Given the description of an element on the screen output the (x, y) to click on. 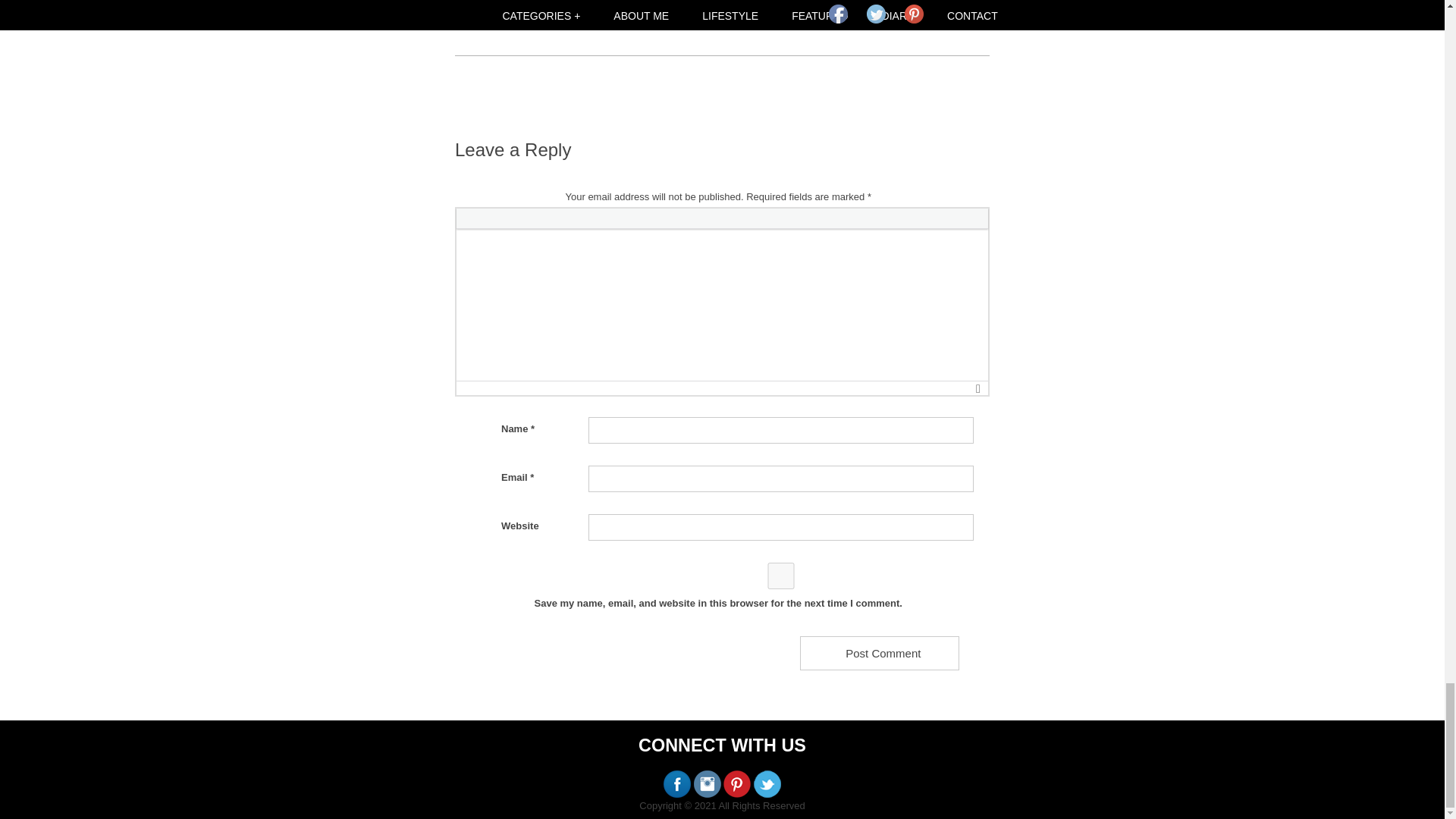
yes (781, 575)
Twitter (875, 13)
Share (964, 20)
Rich Text Area. Press Alt-Shift-H for help. (722, 304)
Post Comment (878, 653)
Facebook (837, 13)
Pinterest (913, 13)
